Given the description of an element on the screen output the (x, y) to click on. 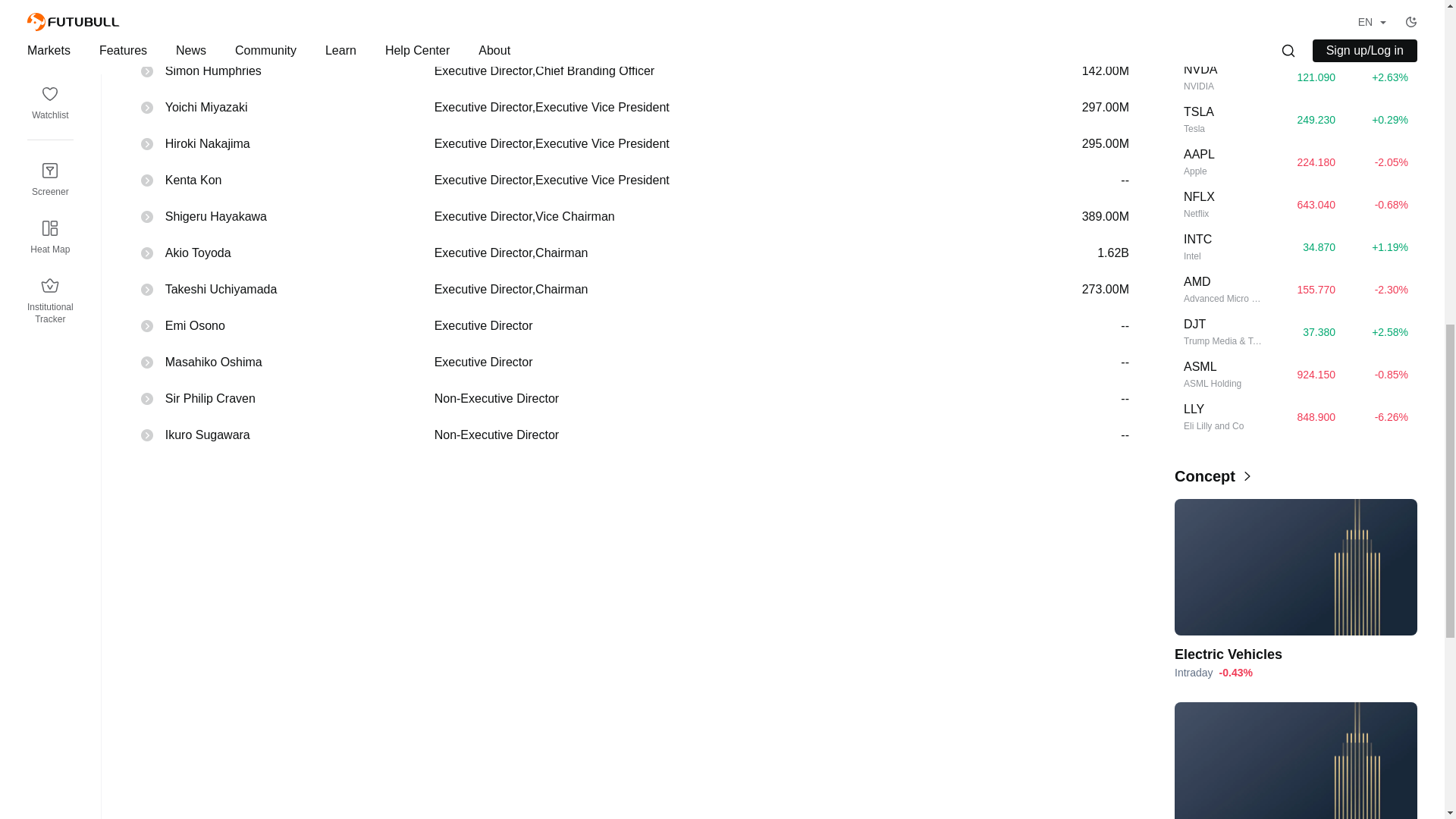
Executive Director (713, 325)
Non-Executive Director (713, 434)
Executive Director,Chairman (713, 289)
NVIDIA (1222, 86)
Taiwan Semiconductor (1222, 43)
Executive Director,Executive Vice President (713, 107)
Executive Director,Chief Branding Officer (713, 71)
Non-Executive Director (713, 398)
Executive Director,President and Chief Executive Officer (713, 34)
Executive Director,Executive Vice President (713, 144)
Executive Director (713, 361)
Executive Director,Vice Chairman (713, 217)
Tesla (1222, 128)
Executive Director,Executive Vice President (713, 180)
Executive Director,Chairman (713, 253)
